Given the description of an element on the screen output the (x, y) to click on. 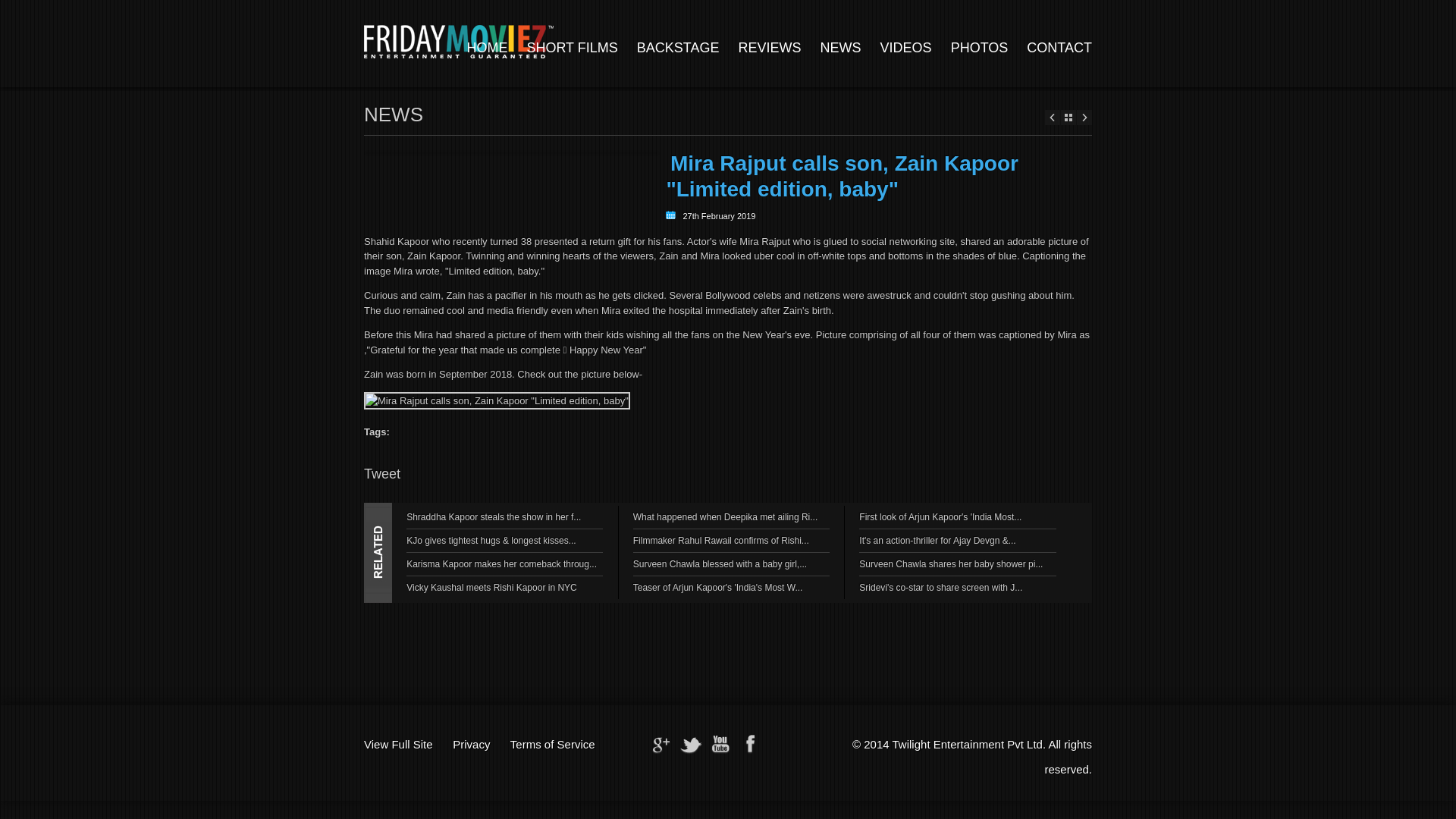
VIDEOS (905, 47)
Teaser of Arjun Kapoor's 'India's Most W... (718, 587)
Sridevi's co-star to share screen with Janhvi Kapoor (940, 587)
Sridevi's co-star to share screen with J... (940, 587)
Filmmaker Rahul Rawail confirms of Rishi... (721, 540)
What happened when Deepika met ailing Ri... (724, 516)
Terms of Service (553, 744)
Surveen Chawla shares her baby shower pi... (950, 563)
View Full Site (398, 744)
Surveen Chawla blessed with a baby girl,... (719, 563)
Vicky Kaushal meets Rishi Kapoor in NYC (491, 587)
NEWS (841, 47)
First look of Arjun Kapoor's 'India Most... (940, 516)
Twilight Entertainment Pvt Ltd. (969, 744)
